Given the description of an element on the screen output the (x, y) to click on. 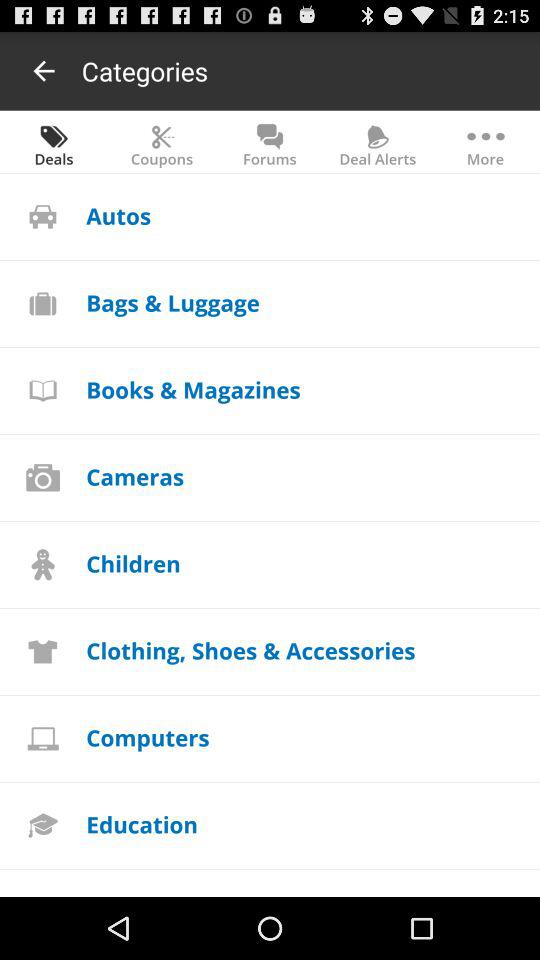
turn off education (142, 824)
